Given the description of an element on the screen output the (x, y) to click on. 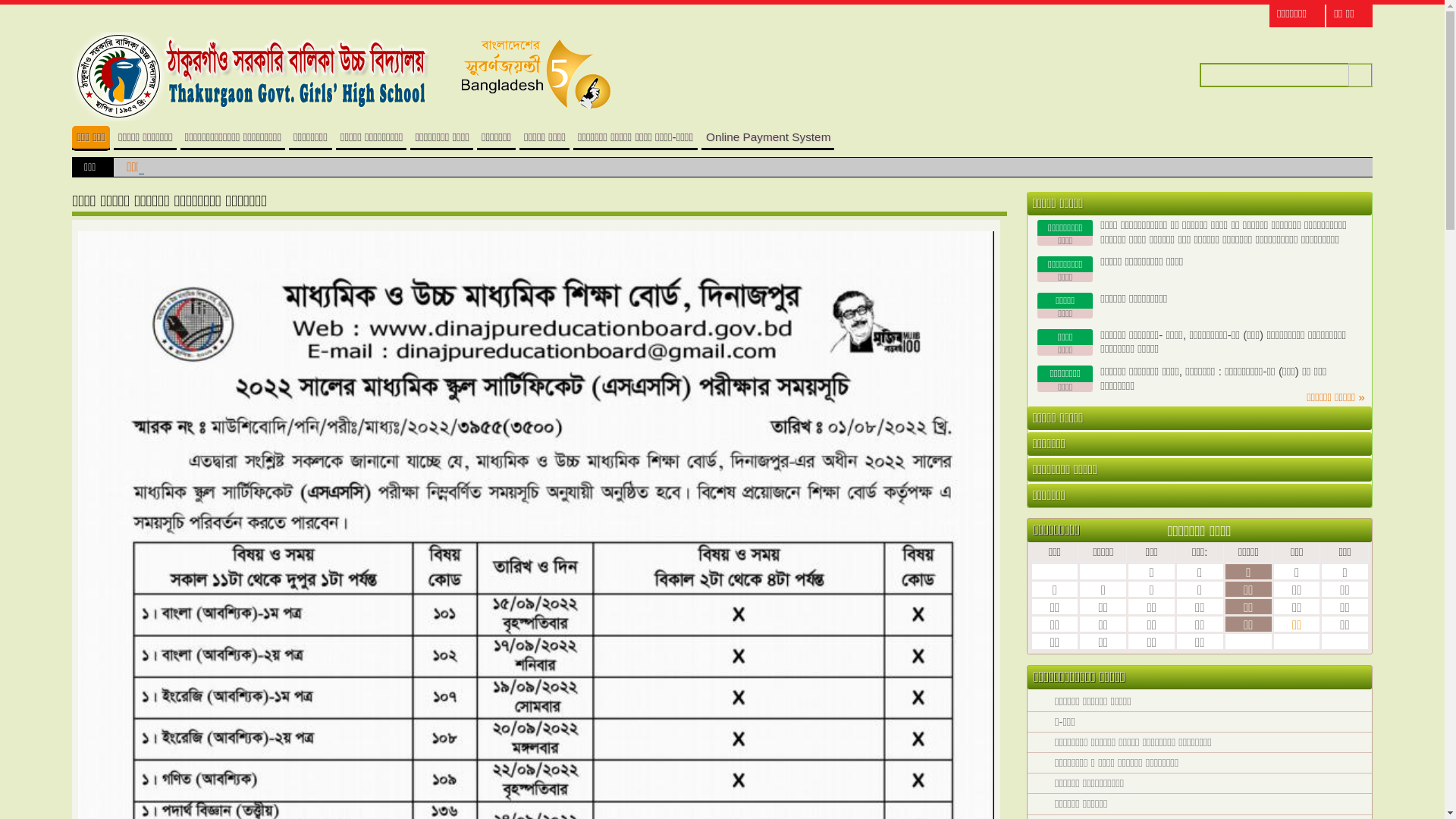
  Element type: text (1355, 443)
  Element type: text (1355, 203)
Online Payment System Element type: text (767, 136)
  Element type: text (1355, 469)
  Element type: text (1355, 495)
Submit Element type: text (1360, 74)
  Element type: text (1355, 417)
